Given the description of an element on the screen output the (x, y) to click on. 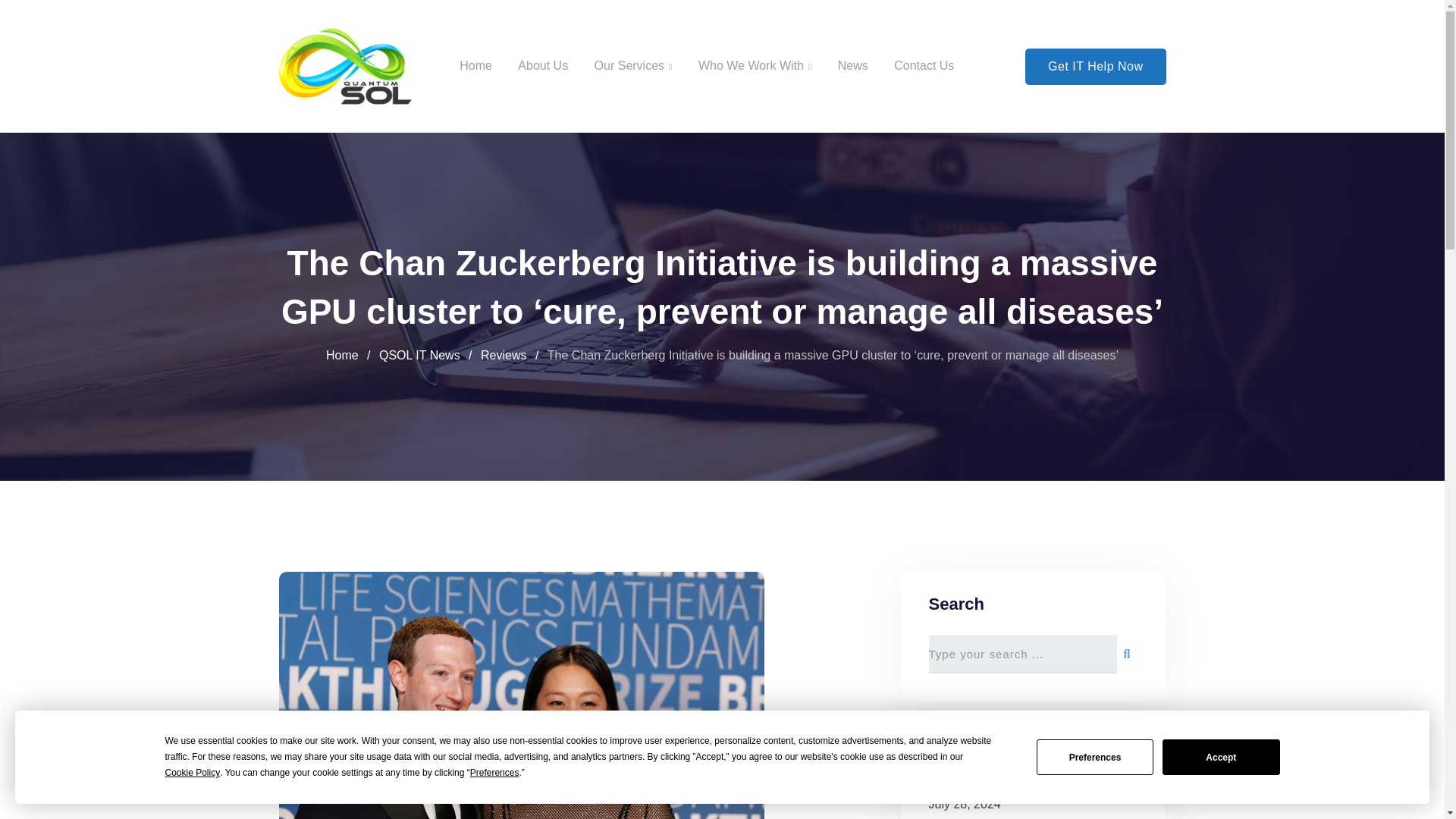
Go to QSOL IT News. (419, 354)
Preferences (494, 772)
Home (342, 354)
Cookie Policy (193, 772)
Accept (1220, 756)
Who We Work With (754, 65)
Get IT Help Now (1095, 66)
Reviews (502, 354)
Go to QSOL IT. (342, 354)
QSOL IT News (419, 354)
Go to the Reviews category archives. (502, 354)
Our Services (633, 65)
Preferences (1094, 756)
